Given the description of an element on the screen output the (x, y) to click on. 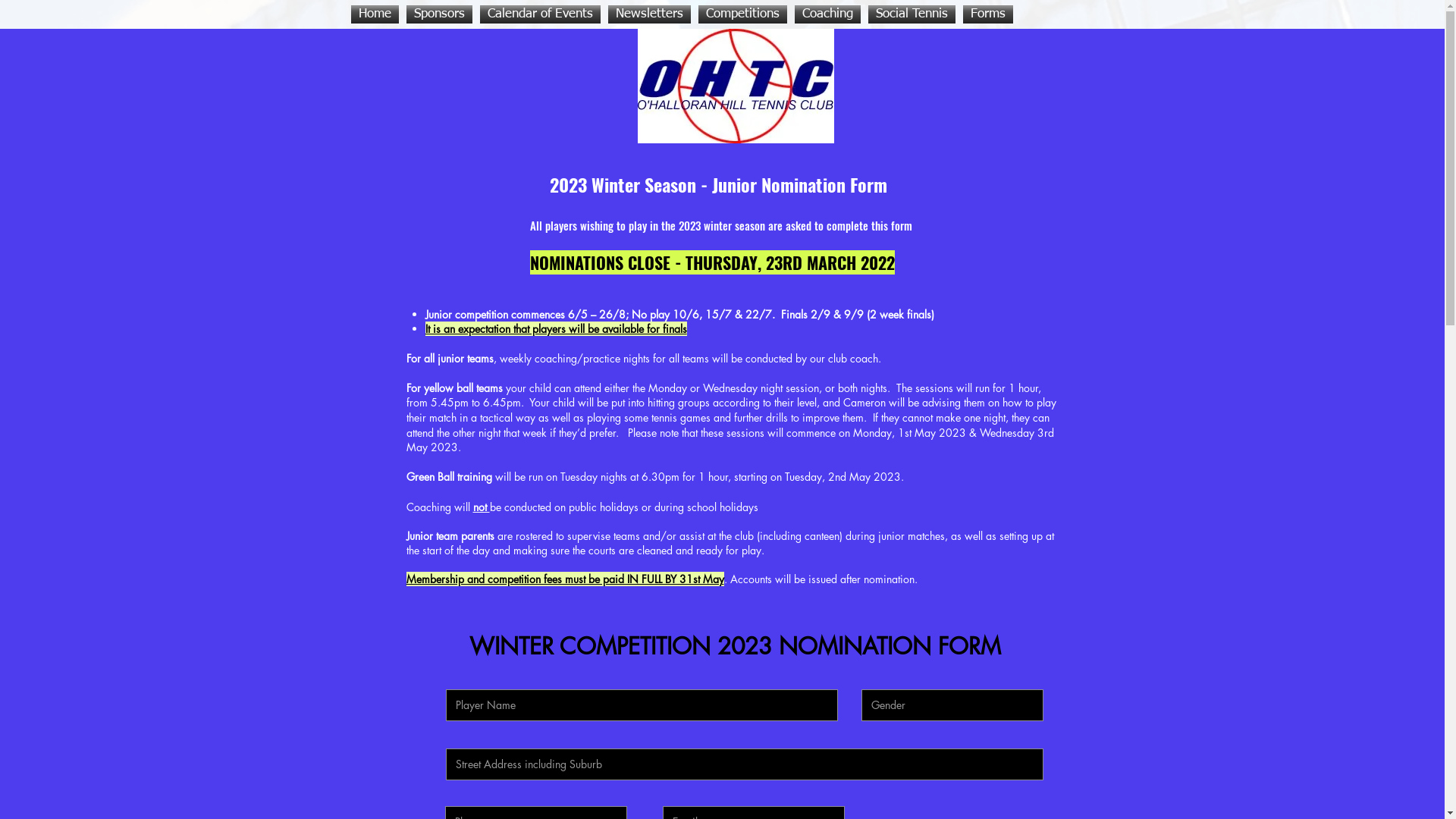
Home Element type: text (375, 14)
Competitions Element type: text (742, 14)
Calendar of Events Element type: text (540, 14)
Newsletters Element type: text (648, 14)
Sponsors Element type: text (438, 14)
Social Tennis Element type: text (911, 14)
Coaching Element type: text (826, 14)
Forms Element type: text (987, 14)
